Given the description of an element on the screen output the (x, y) to click on. 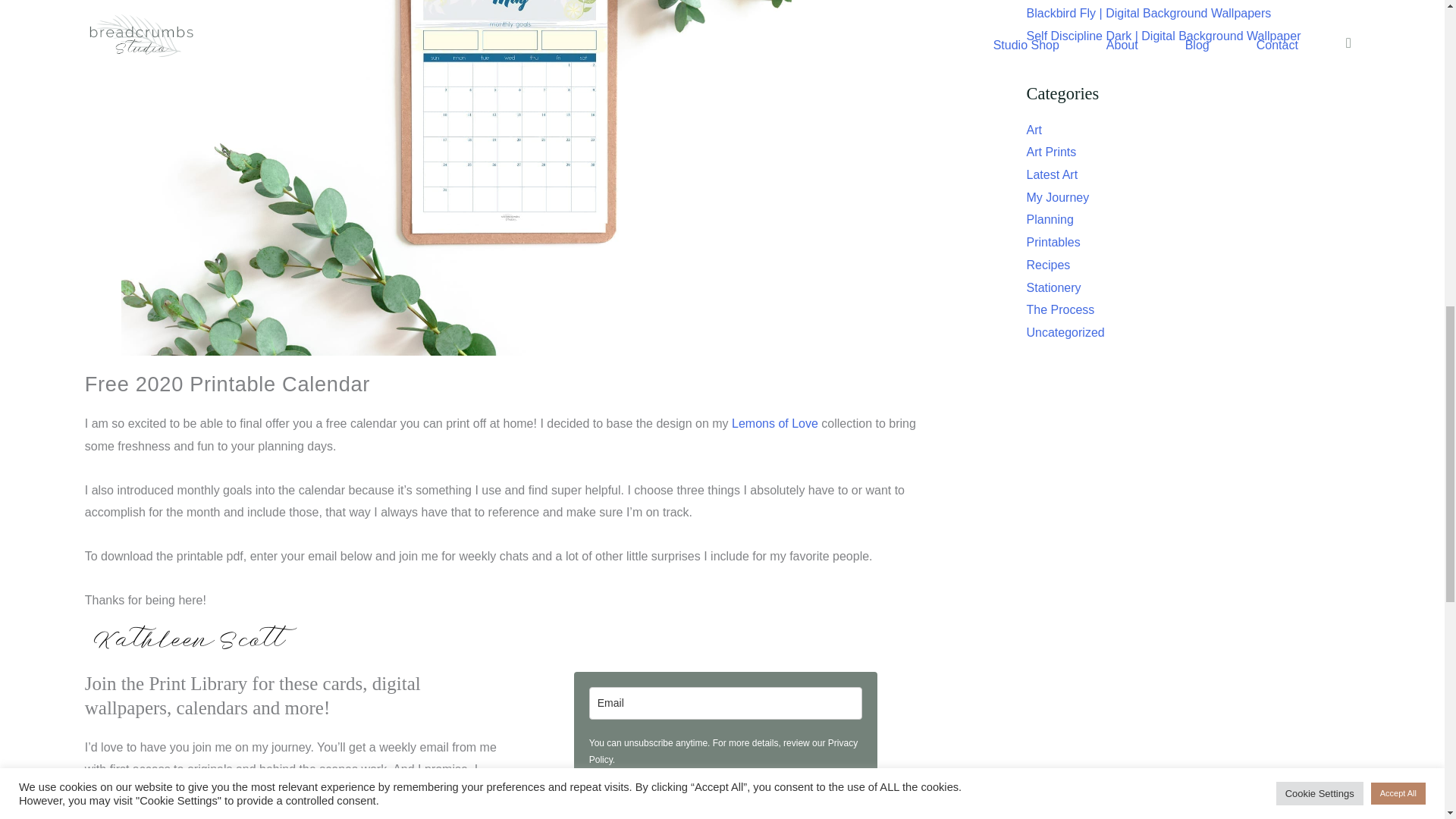
Art Prints (1051, 151)
Subscribe (725, 816)
Art (1034, 129)
Recipes (1048, 264)
Lemons of Love (775, 422)
Stationery (1053, 287)
Printables (1053, 241)
My Journey (1057, 196)
Planning (1050, 219)
The Process (1060, 309)
Latest Art (1052, 174)
